Given the description of an element on the screen output the (x, y) to click on. 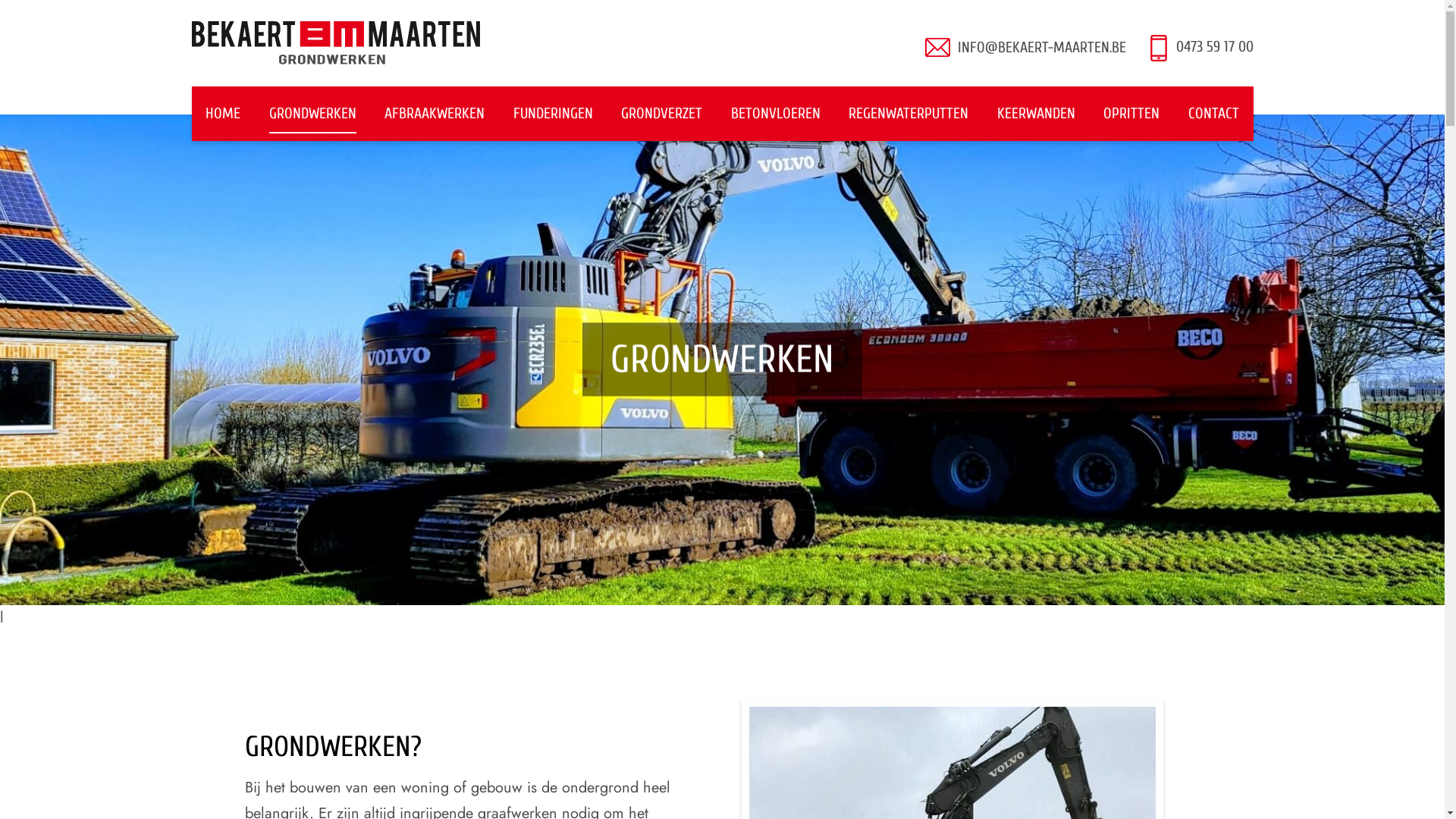
GRONDVERZET Element type: text (661, 113)
INFO@BEKAERT-MAARTEN.BE Element type: text (1041, 47)
OPRITTEN Element type: text (1131, 113)
GRONDWERKEN Element type: text (312, 113)
AFBRAAKWERKEN Element type: text (434, 113)
KEERWANDEN Element type: text (1036, 113)
0473 59 17 00 Element type: text (1200, 47)
REGENWATERPUTTEN Element type: text (908, 113)
BETONVLOEREN Element type: text (775, 113)
CONTACT Element type: text (1213, 113)
HOME Element type: text (222, 113)
FUNDERINGEN Element type: text (553, 113)
